Given the description of an element on the screen output the (x, y) to click on. 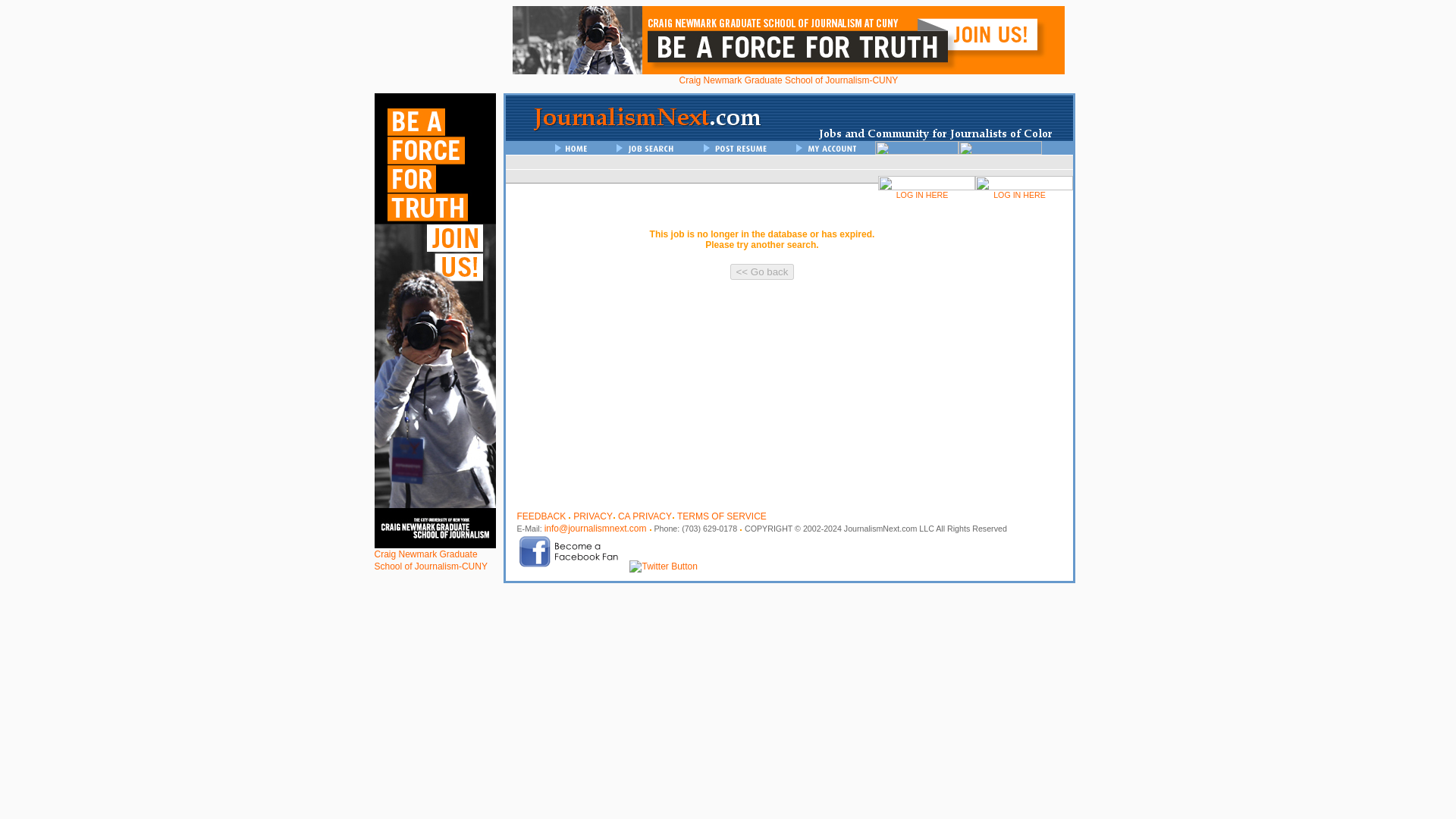
Follow Us on Twitter! (662, 566)
LOG IN HERE (1023, 194)
CA PRIVACY (644, 516)
LOG IN HERE (926, 194)
PRIVACY (592, 516)
Craig Newmark Graduate School of Journalism-CUNY (435, 555)
TERMS OF SERVICE (722, 516)
FEEDBACK (541, 516)
Craig Newmark Graduate School of Journalism-CUNY (788, 75)
